Given the description of an element on the screen output the (x, y) to click on. 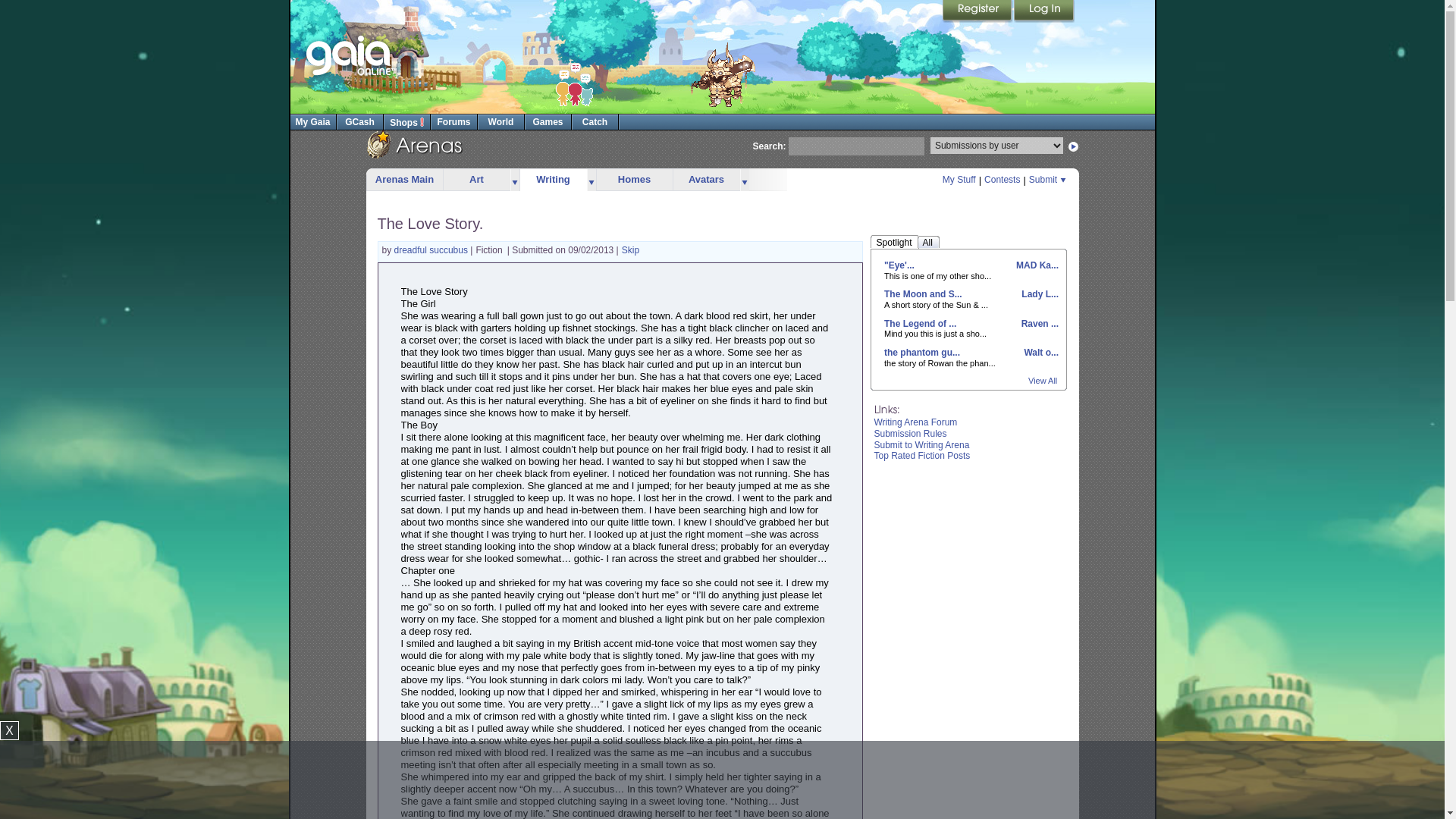
Steel and Honor (702, 65)
My Gaia (311, 121)
submit (1074, 146)
Create a free account now (977, 11)
Shops ! (406, 121)
Login to Gaia (1043, 11)
Return to the Gaia Homepage (350, 56)
submit (1074, 146)
GCash (358, 121)
View dreadful succubus's profile (432, 249)
